Given the description of an element on the screen output the (x, y) to click on. 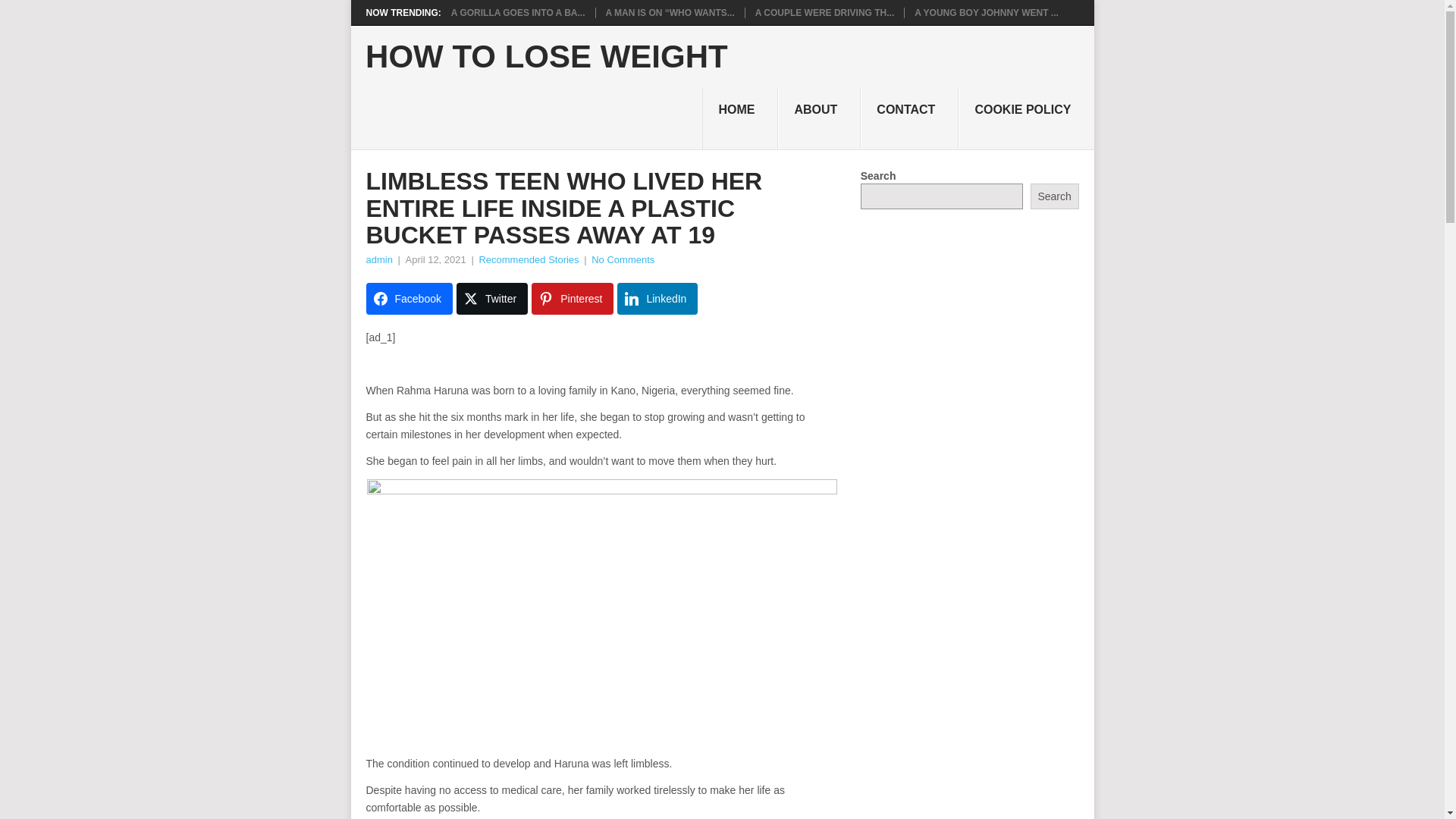
A Couple Were Driving Through Canada. (825, 12)
admin (378, 259)
Twitter (492, 298)
Share on Pinterest (571, 298)
No Comments (622, 259)
CONTACT (909, 118)
A Gorilla Goes Into A Bar And Orders A Martini. (518, 12)
Recommended Stories (528, 259)
HOW TO LOSE WEIGHT (546, 56)
Posts by admin (378, 259)
